Given the description of an element on the screen output the (x, y) to click on. 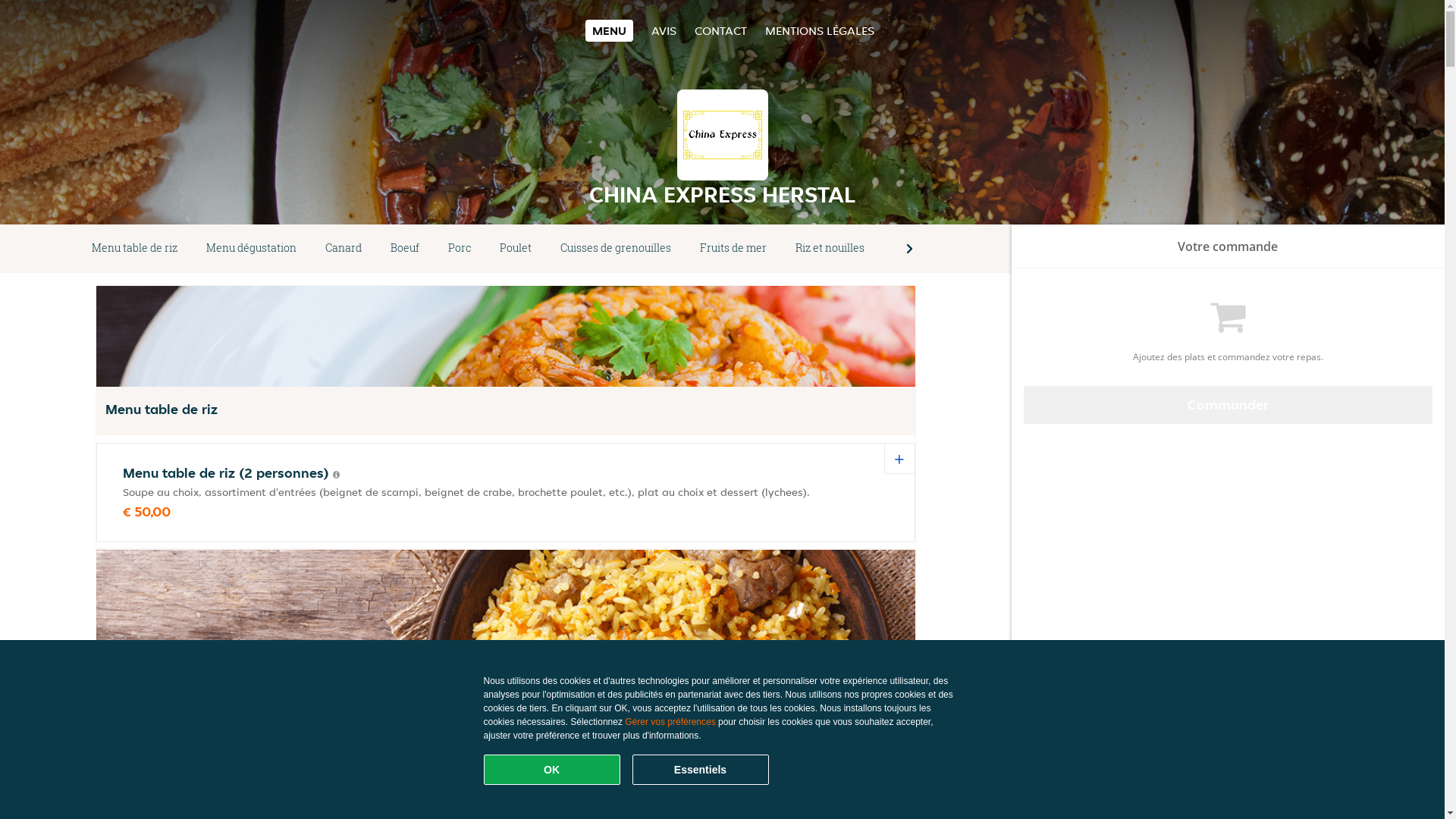
Riz et nouilles Element type: text (829, 248)
Poulet Element type: text (515, 248)
AVIS Element type: text (663, 30)
Porc Element type: text (459, 248)
Fruits de mer Element type: text (733, 248)
MENU Element type: text (609, 30)
Cuisses de grenouilles Element type: text (615, 248)
OK Element type: text (551, 769)
Plus d'informations sur le produit Element type: hover (335, 474)
Menu table de riz Element type: text (134, 248)
Boeuf Element type: text (404, 248)
Commander Element type: text (1228, 404)
Essentiels Element type: text (700, 769)
Canard Element type: text (343, 248)
Vermicelles Element type: text (922, 248)
CONTACT Element type: text (720, 30)
